Given the description of an element on the screen output the (x, y) to click on. 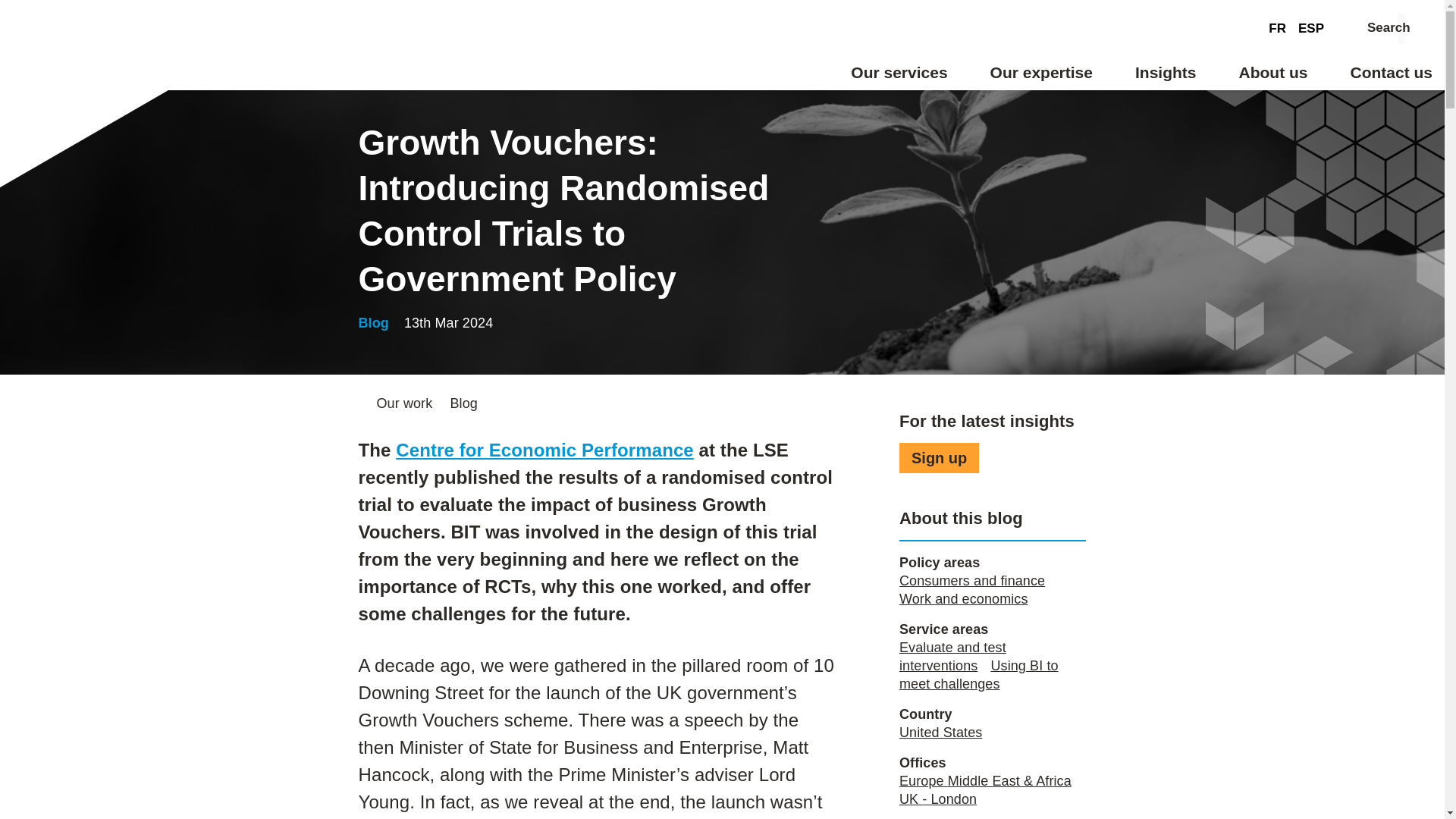
Blog (463, 402)
Our expertise (1041, 77)
Our services (898, 77)
United States (940, 732)
Contact us (1390, 77)
Work and economics (963, 598)
Go to home page (68, 76)
Centre for Economic Performance (545, 449)
ESP (1310, 27)
Our work (403, 402)
